Given the description of an element on the screen output the (x, y) to click on. 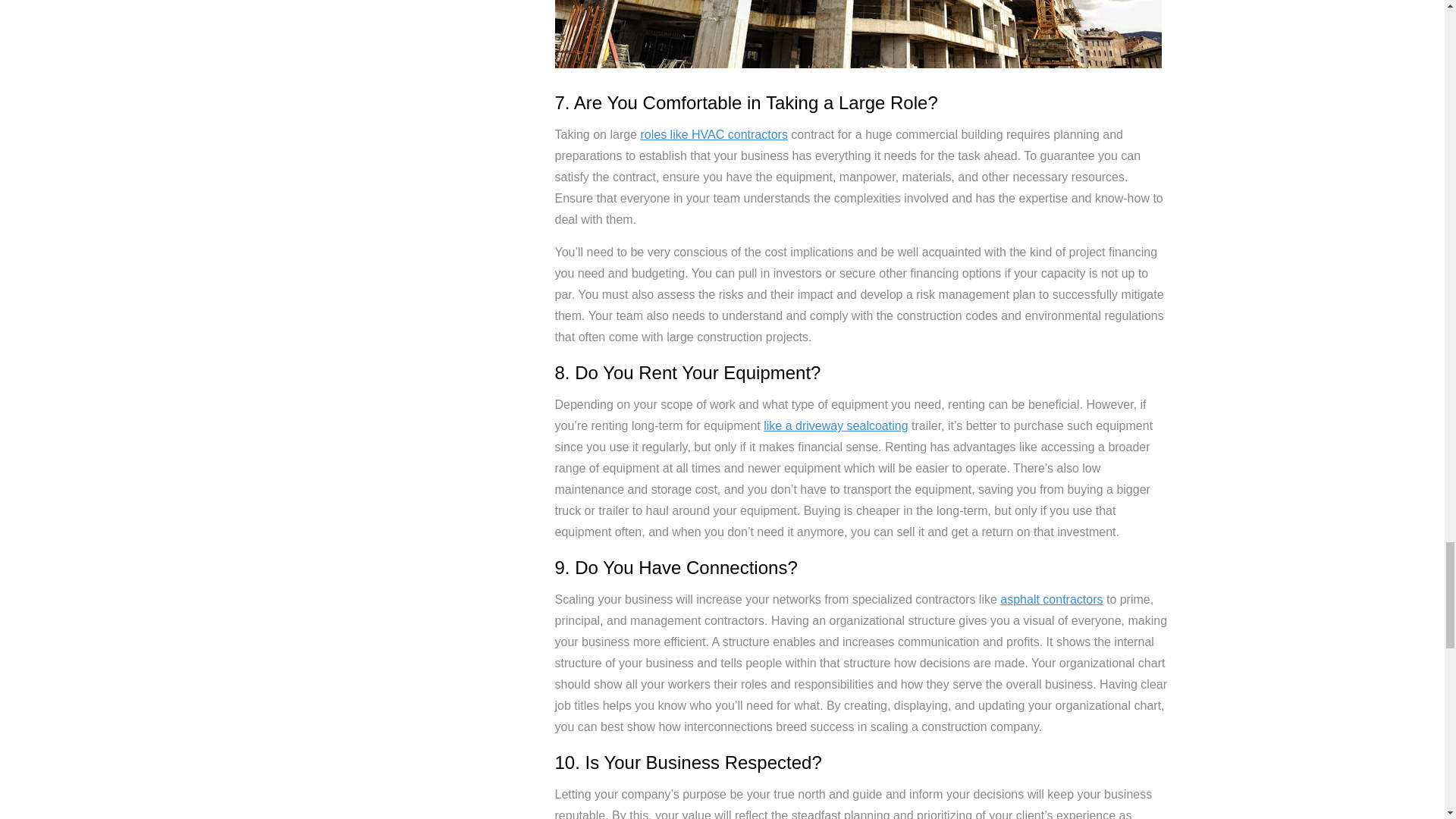
asphalt contractors (1051, 599)
roles like HVAC contractors (713, 133)
like a driveway sealcoating (834, 425)
